Given the description of an element on the screen output the (x, y) to click on. 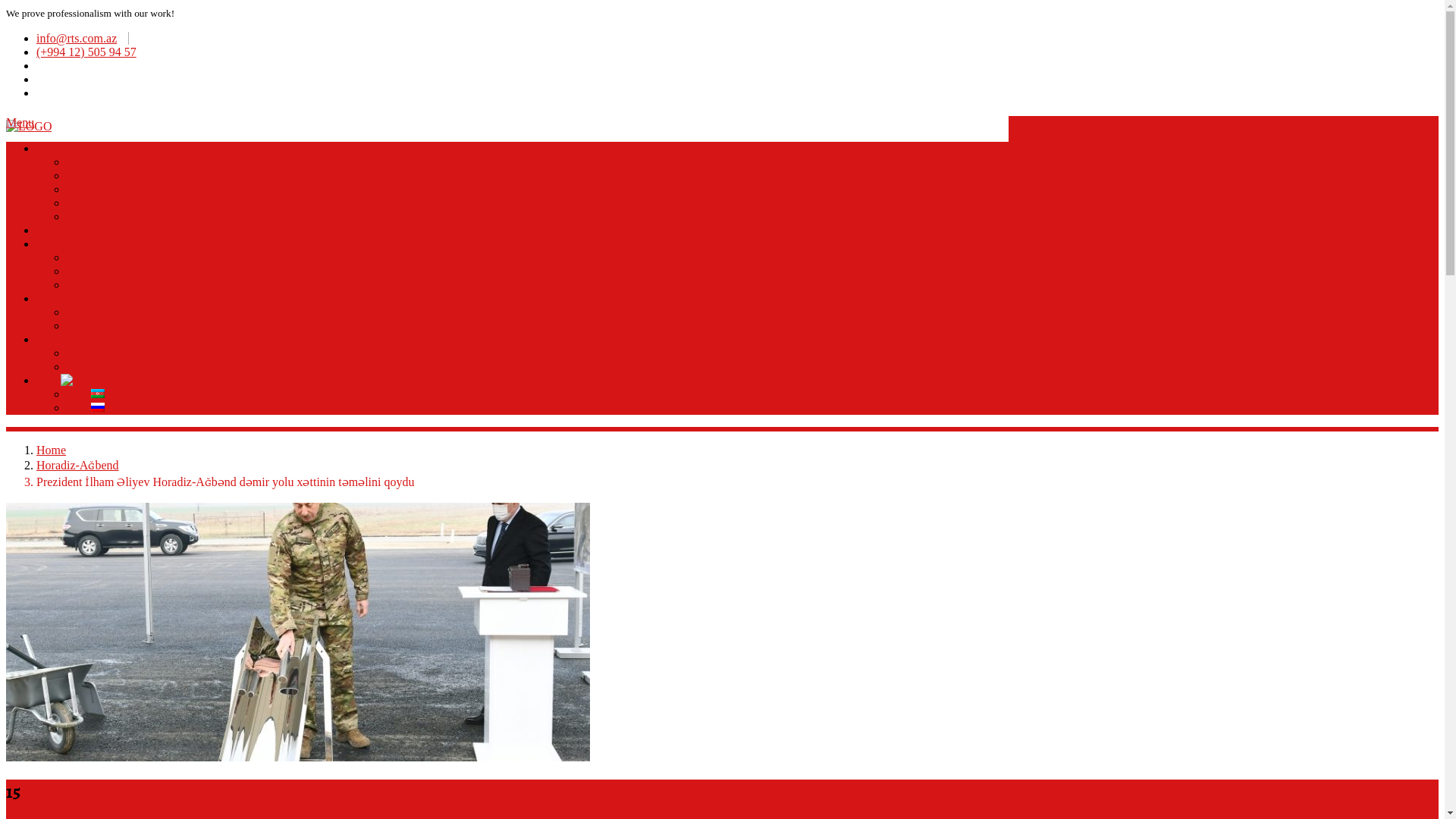
Leadership Element type: text (117, 173)
info@rts.com.az Element type: text (82, 37)
Contact Element type: text (109, 214)
About Company Element type: text (130, 159)
About us Element type: text (82, 146)
Construction-Installation Element type: text (151, 255)
Menu Element type: text (20, 122)
Home Element type: text (50, 449)
Sertificates Element type: text (117, 310)
Design Element type: text (107, 269)
English Element type: hover (72, 380)
Projects Element type: text (80, 228)
Media about us Element type: text (128, 364)
SERVICES Element type: text (88, 241)
Supply Element type: text (107, 282)
News Element type: text (74, 337)
Key indicator Element type: text (124, 200)
Codes and Standarts Element type: text (140, 323)
News Element type: text (104, 351)
Career Element type: text (106, 187)
Sertificates Element type: text (87, 296)
(+994 12) 505 94 57 Element type: text (91, 51)
